Given the description of an element on the screen output the (x, y) to click on. 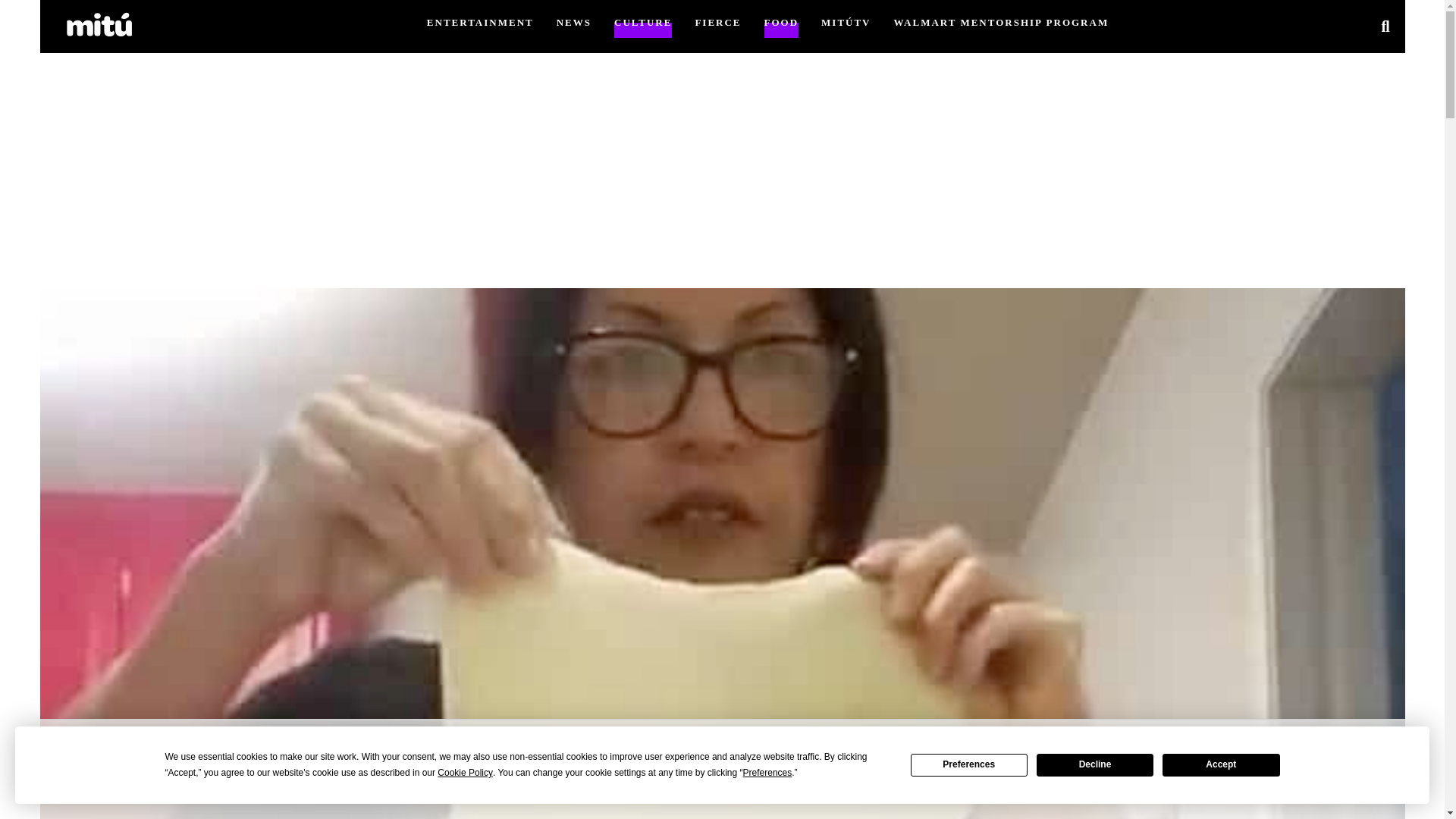
3rd party ad content (721, 769)
CULTURE (642, 21)
WALMART MENTORSHIP PROGRAM (1001, 21)
FIERCE (717, 21)
Decline (1094, 765)
Preferences (969, 765)
Preferences (767, 772)
ENTERTAINMENT (480, 21)
Accept (1220, 765)
FOOD (781, 21)
NEWS (573, 21)
Cookie Policy (465, 772)
